Given the description of an element on the screen output the (x, y) to click on. 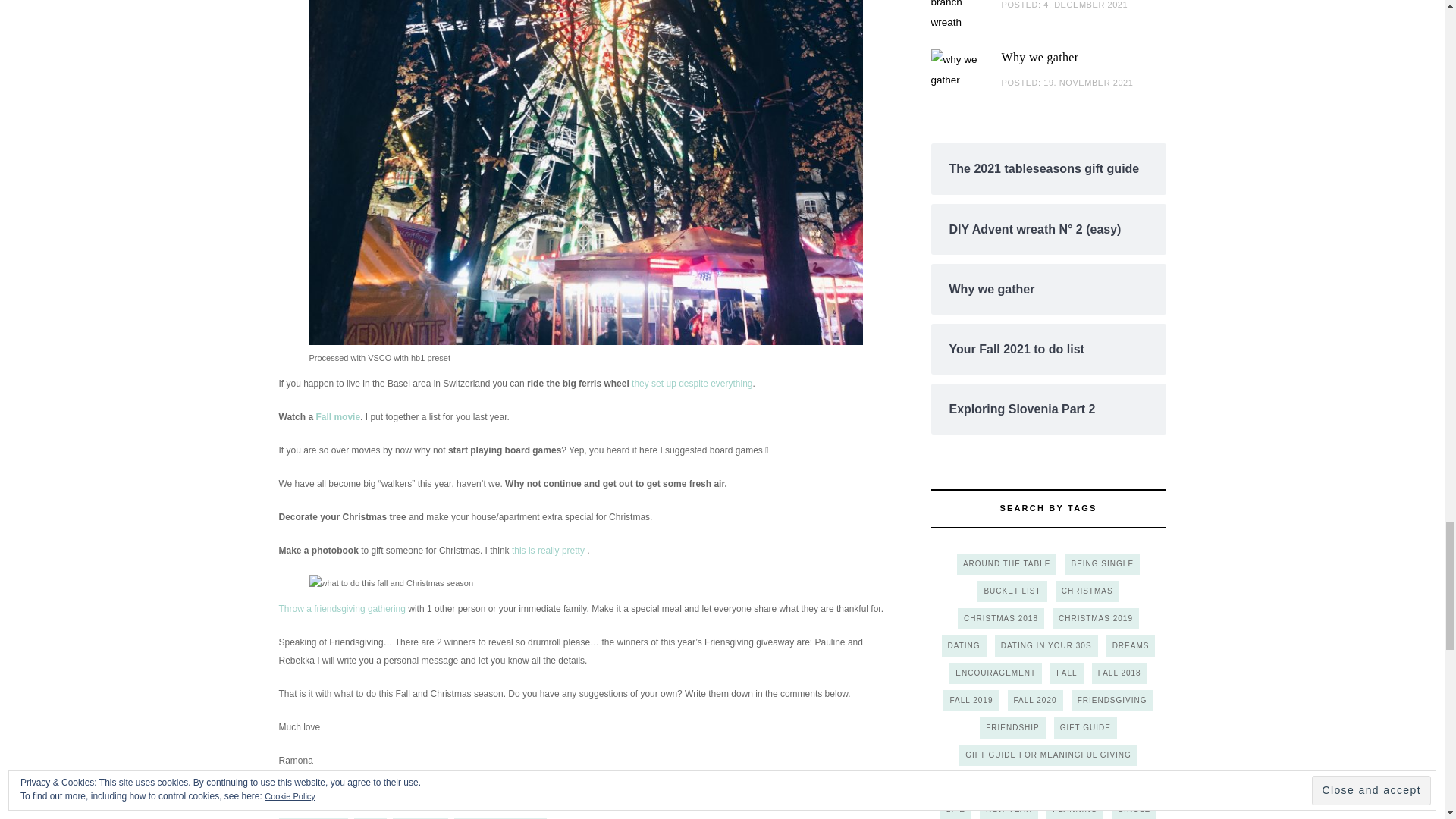
BUCKET LIST (313, 818)
Throw a friendsgiving gathering (342, 608)
FALL 2020 (420, 818)
Fall movie (337, 416)
they set up despite everything (691, 383)
this is really pretty (547, 550)
